Given the description of an element on the screen output the (x, y) to click on. 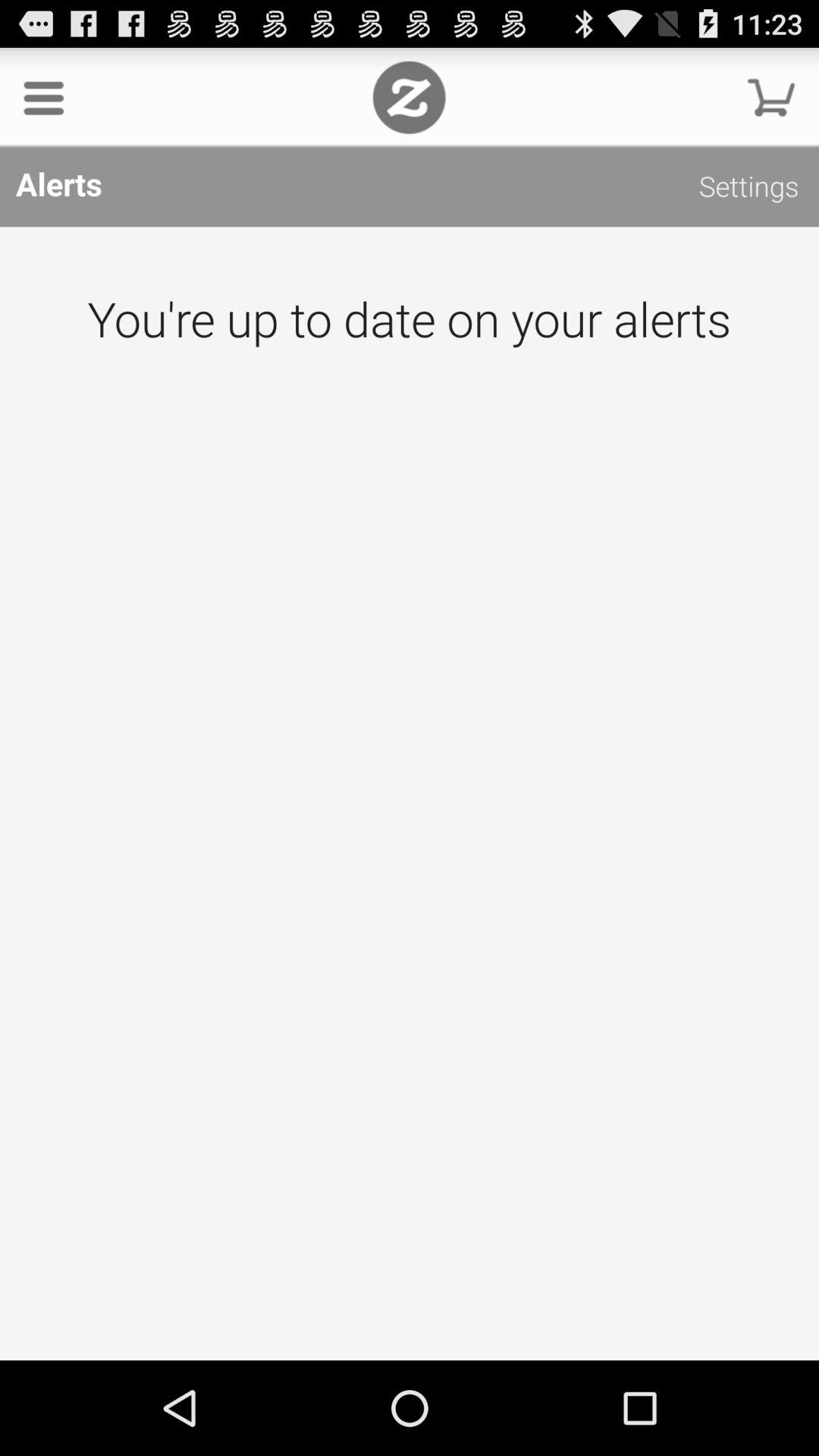
this is the page where your alerts would be (409, 793)
